Given the description of an element on the screen output the (x, y) to click on. 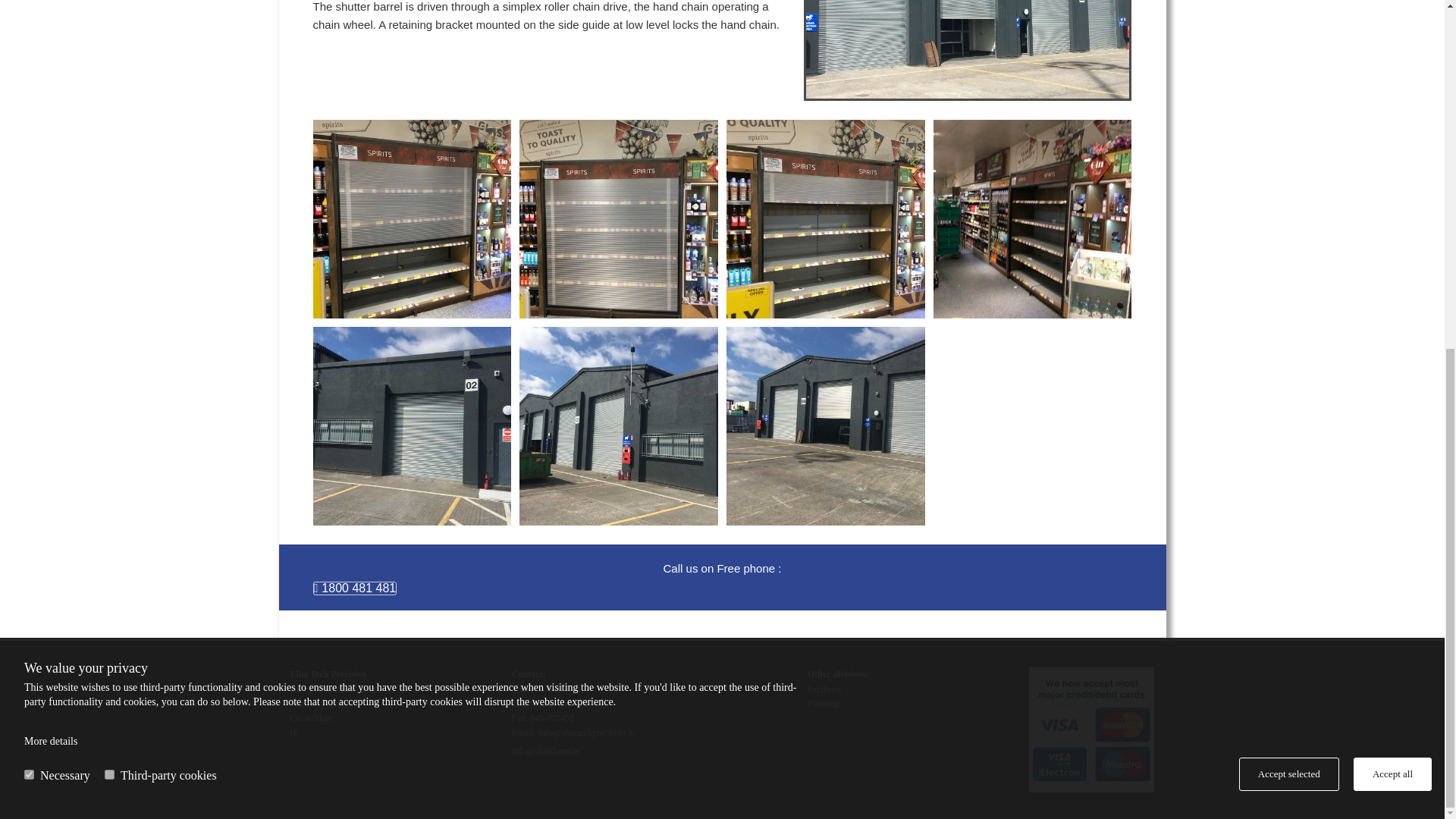
on (28, 173)
More details (50, 139)
Accept selected (1289, 172)
on (109, 173)
Accept all (1392, 172)
